Given the description of an element on the screen output the (x, y) to click on. 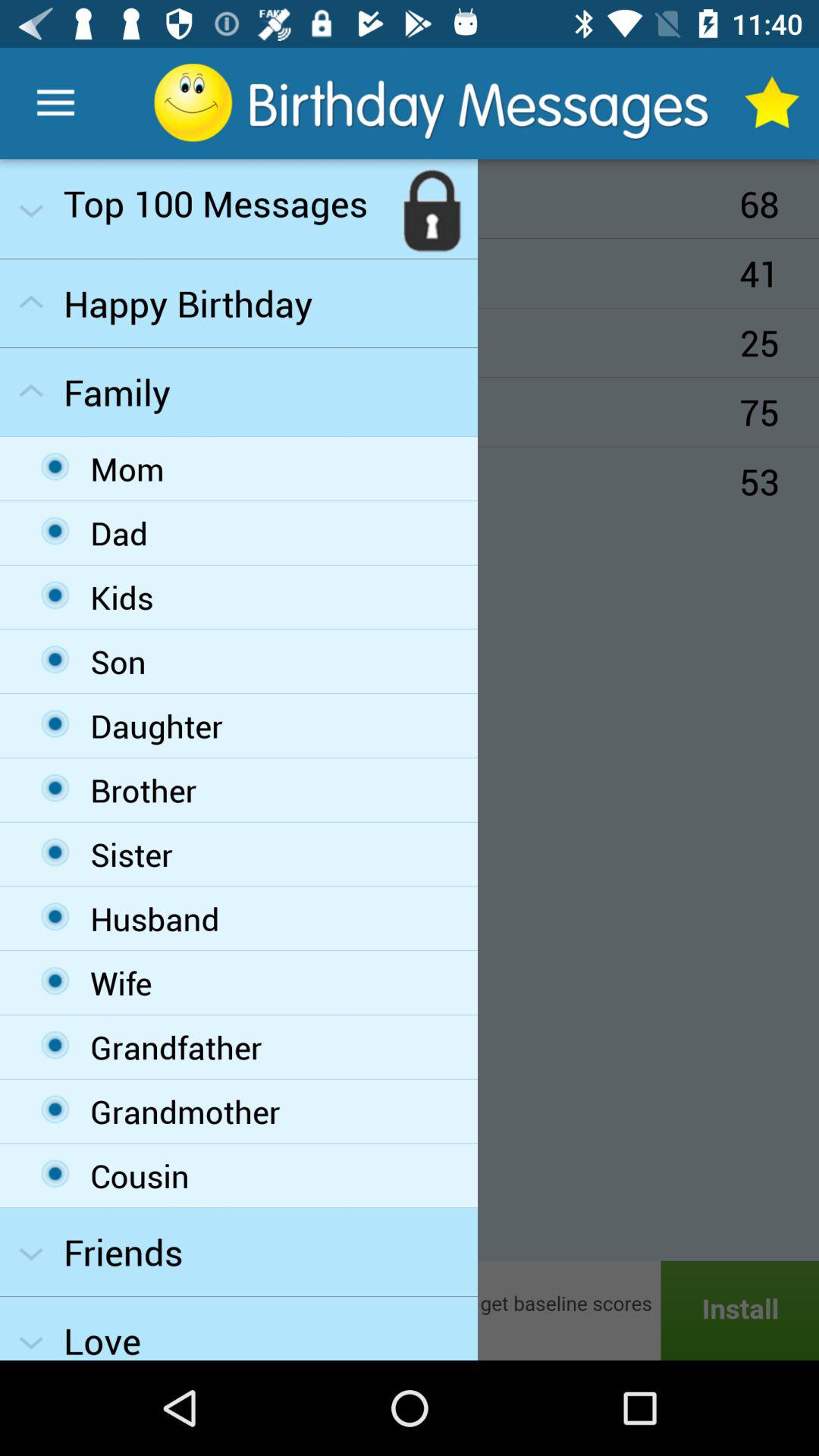
advertisement (409, 1310)
